Given the description of an element on the screen output the (x, y) to click on. 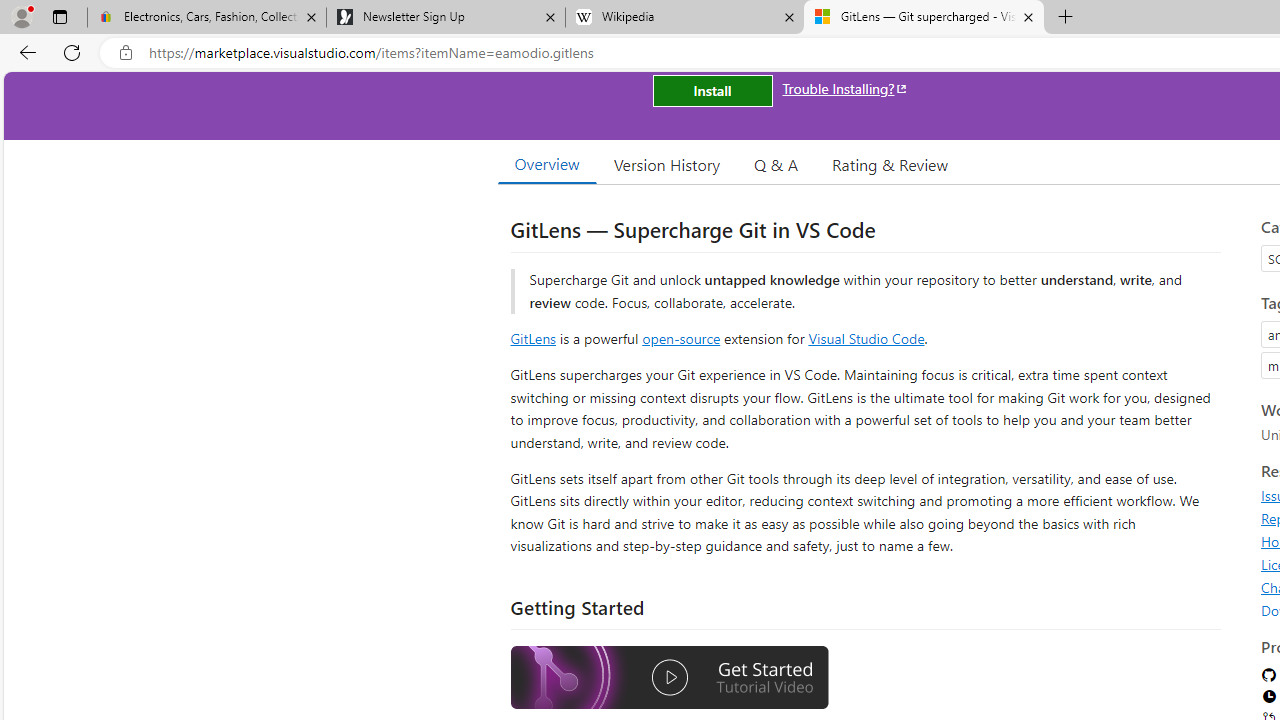
Watch the GitLens Getting Started video (669, 679)
Overview (546, 164)
Version History (667, 164)
Q & A (776, 164)
open-source (681, 337)
Watch the GitLens Getting Started video (669, 678)
Wikipedia (684, 17)
Rating & Review (890, 164)
